Given the description of an element on the screen output the (x, y) to click on. 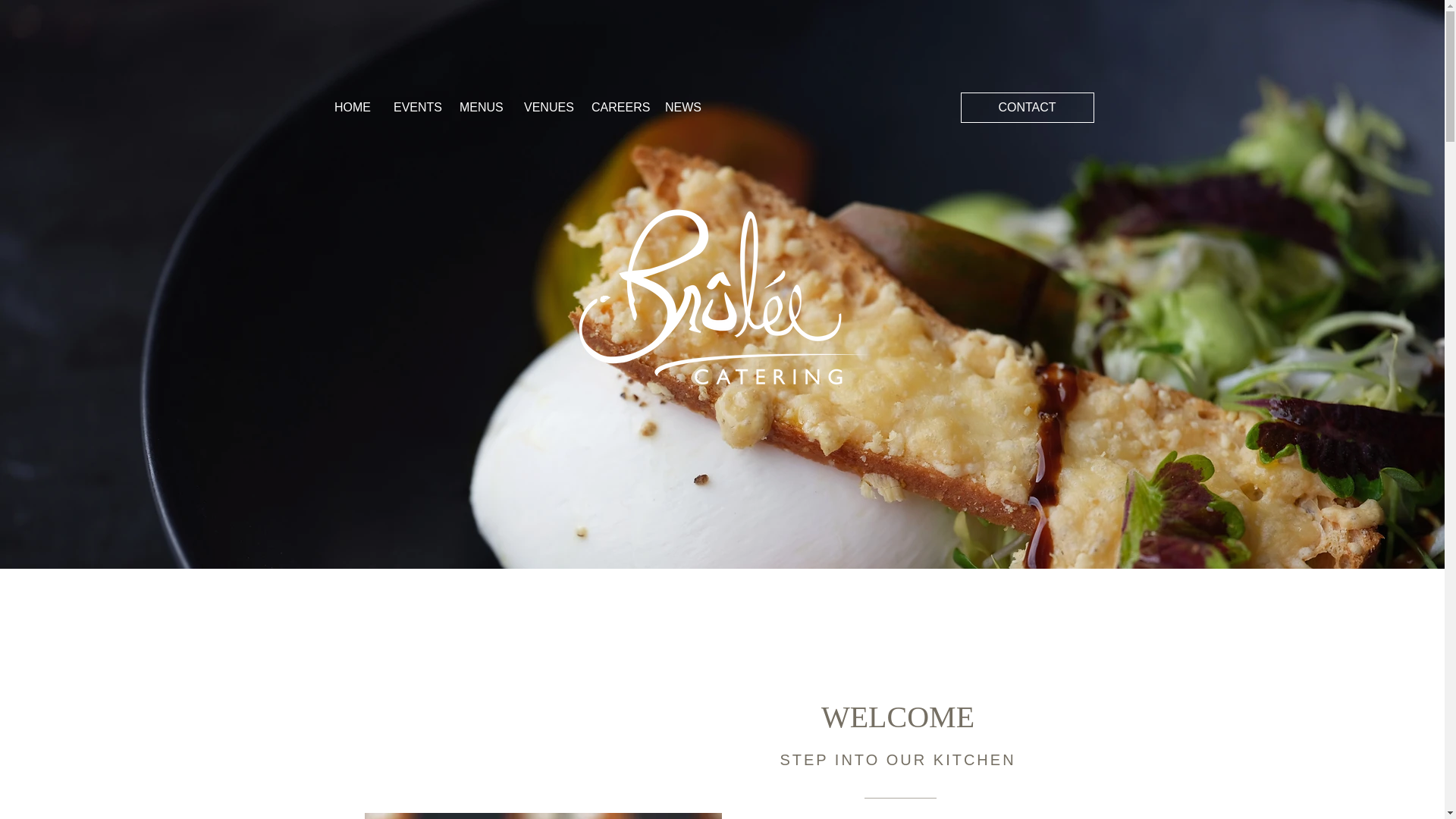
EVENTS (414, 107)
VENUES (545, 107)
MENUS (480, 107)
HOME (352, 107)
CAREERS (616, 107)
CONTACT (1026, 107)
NEWS (681, 107)
